Given the description of an element on the screen output the (x, y) to click on. 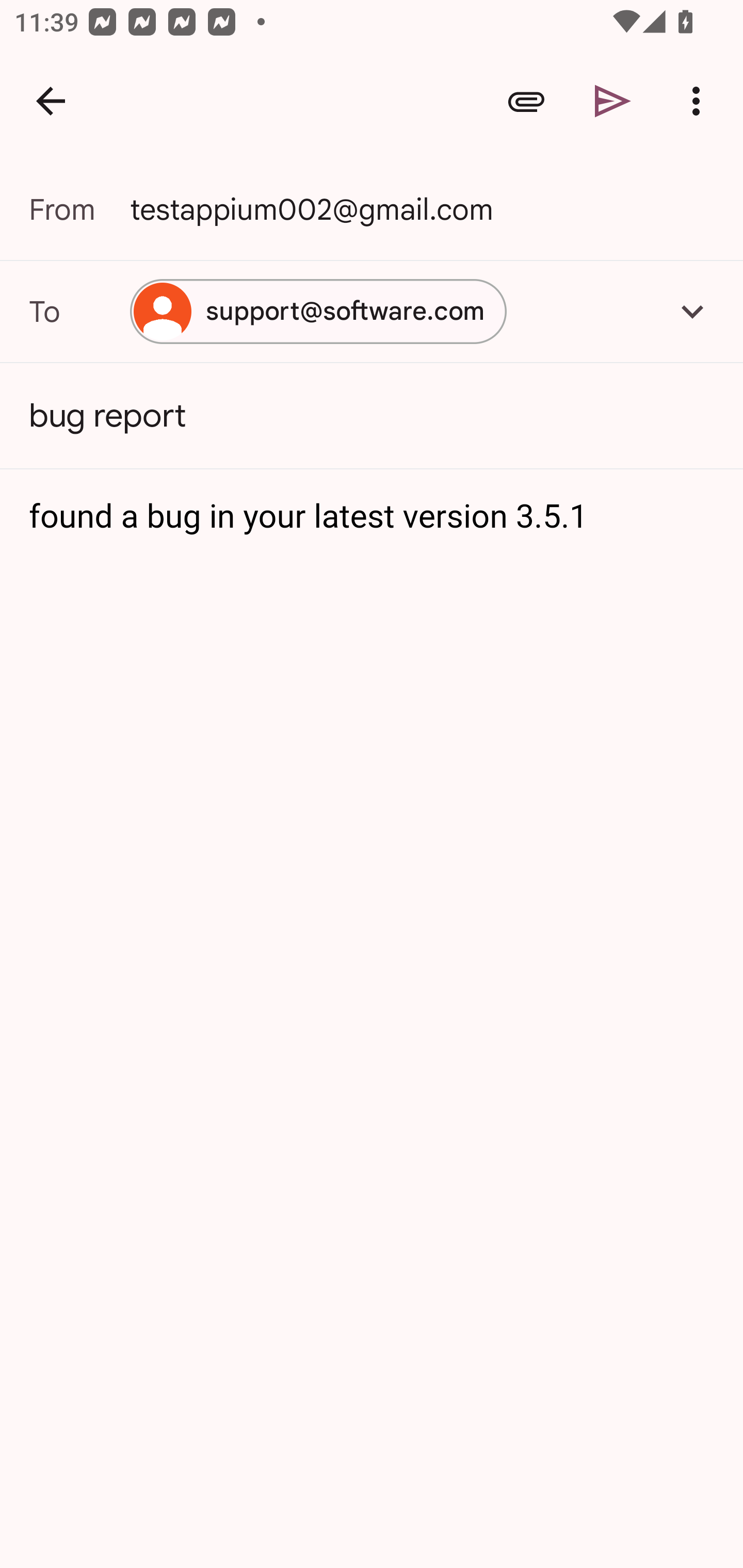
Navigate up (50, 101)
Attach file (525, 101)
Send (612, 101)
More options (699, 101)
From (79, 209)
Add Cc/Bcc (692, 311)
bug report (371, 415)
found a bug in your latest version 3.5.1 (372, 517)
